Given the description of an element on the screen output the (x, y) to click on. 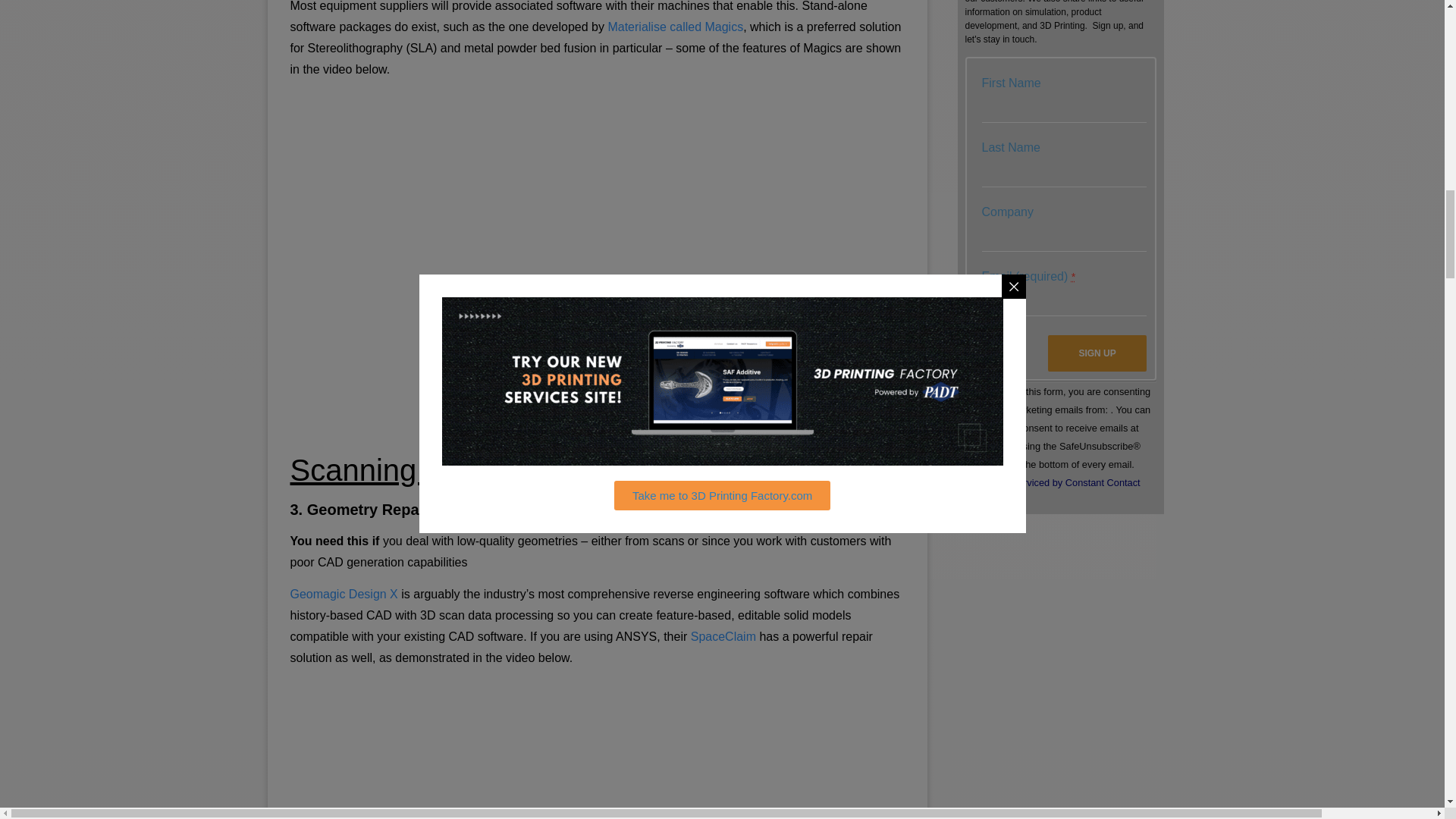
Sign up (1096, 352)
